Given the description of an element on the screen output the (x, y) to click on. 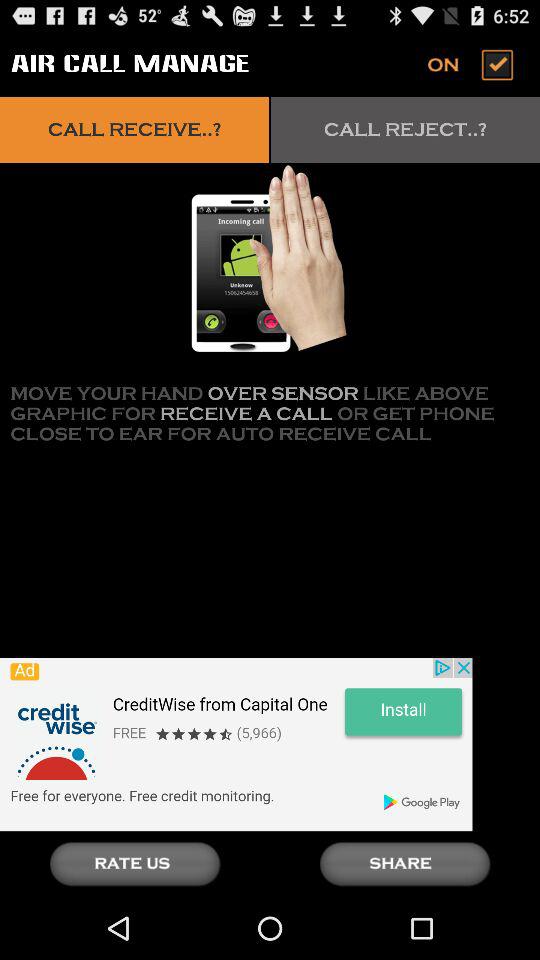
on off (472, 64)
